Given the description of an element on the screen output the (x, y) to click on. 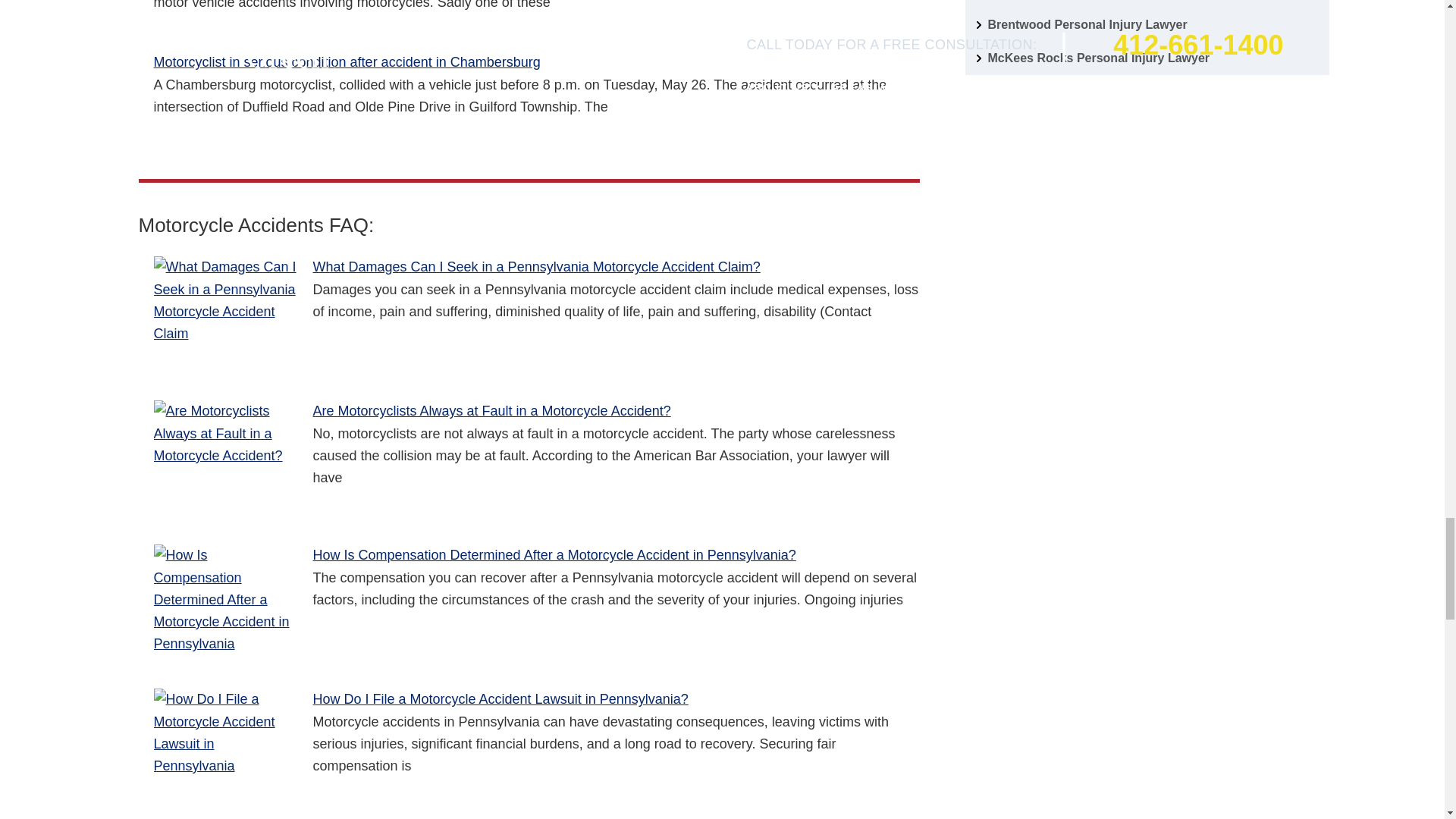
Are Motorcyclists Always at Fault in a Motorcycle Accident? (224, 457)
How Do I File a Motorcycle Accident Lawsuit in Pennsylvania? (224, 745)
